Given the description of an element on the screen output the (x, y) to click on. 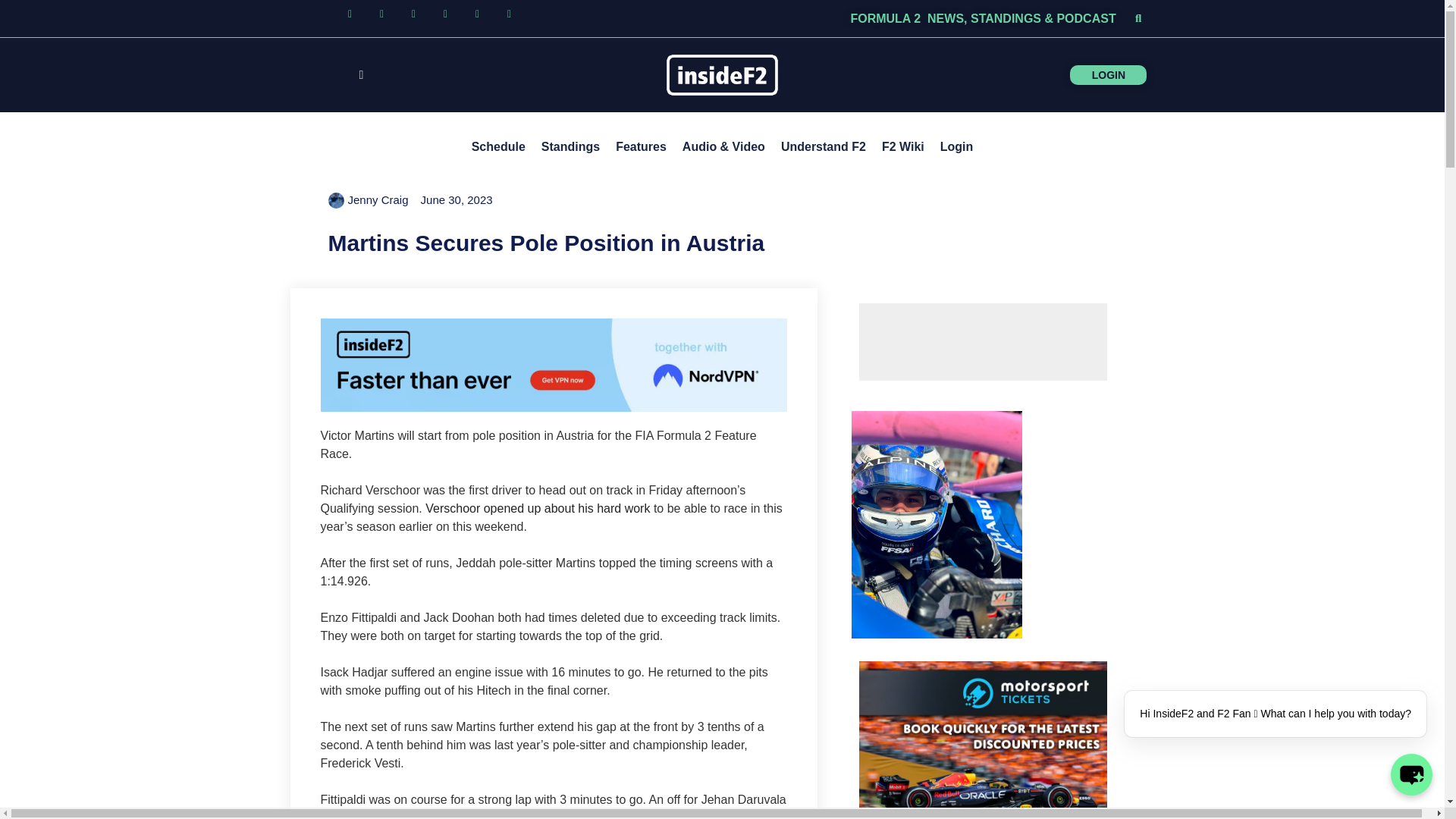
Understand F2 (823, 146)
Advertisement (982, 341)
Features (641, 146)
Standings (570, 146)
Verschoor opened up about his hard work (539, 508)
LOGIN (1139, 74)
June 30, 2023 (456, 200)
Schedule (498, 146)
F2 Wiki (903, 146)
Jenny Craig (367, 200)
Login (957, 146)
